Given the description of an element on the screen output the (x, y) to click on. 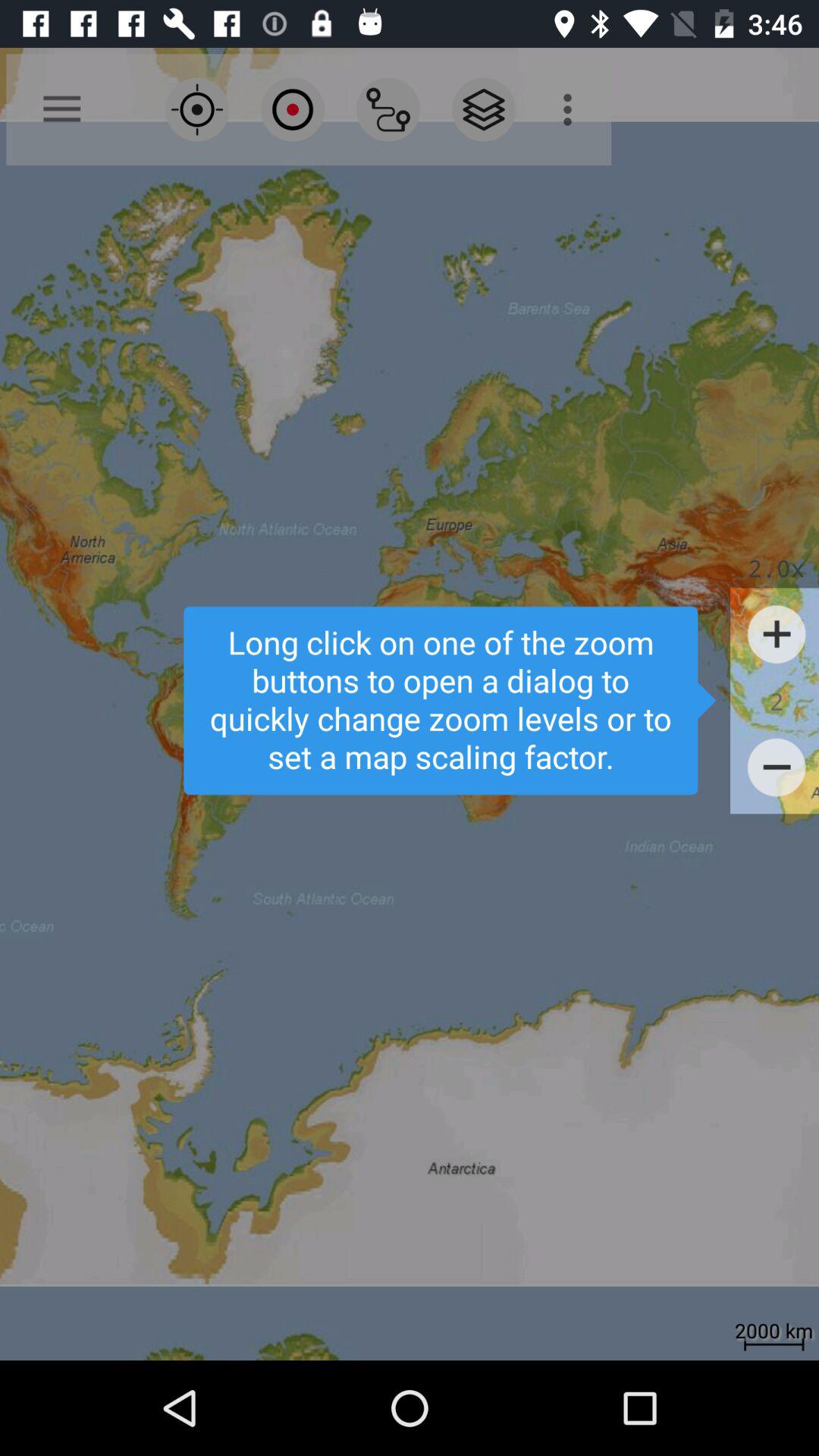
open item below 2 item (776, 767)
